Given the description of an element on the screen output the (x, y) to click on. 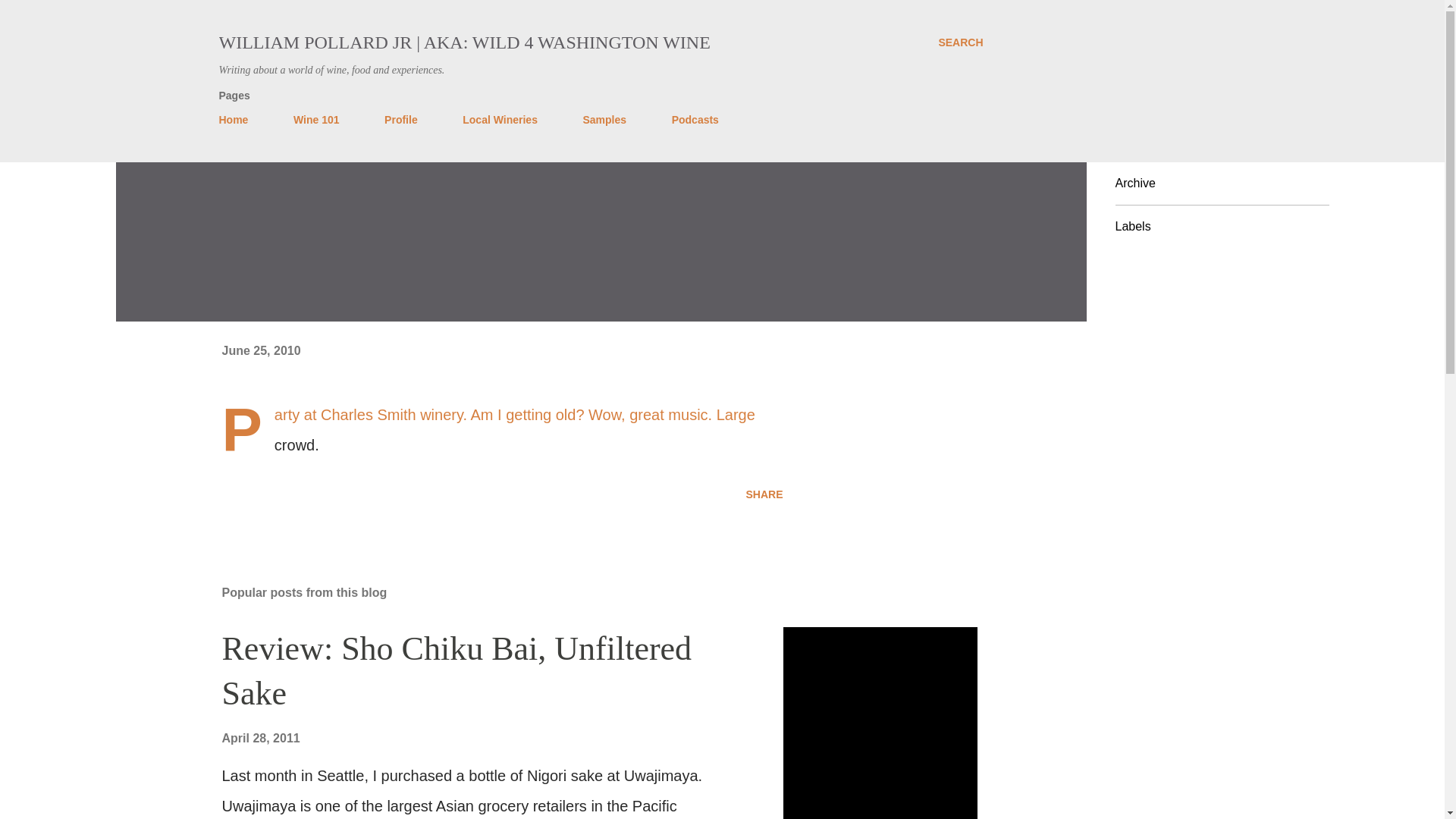
Local Wineries (499, 119)
SHARE (764, 494)
Review: Sho Chiku Bai, Unfiltered Sake (456, 670)
permanent link (260, 350)
SEARCH (959, 42)
Home (237, 119)
Profile (400, 119)
Wine 101 (316, 119)
April 28, 2011 (260, 738)
June 25, 2010 (260, 350)
